Given the description of an element on the screen output the (x, y) to click on. 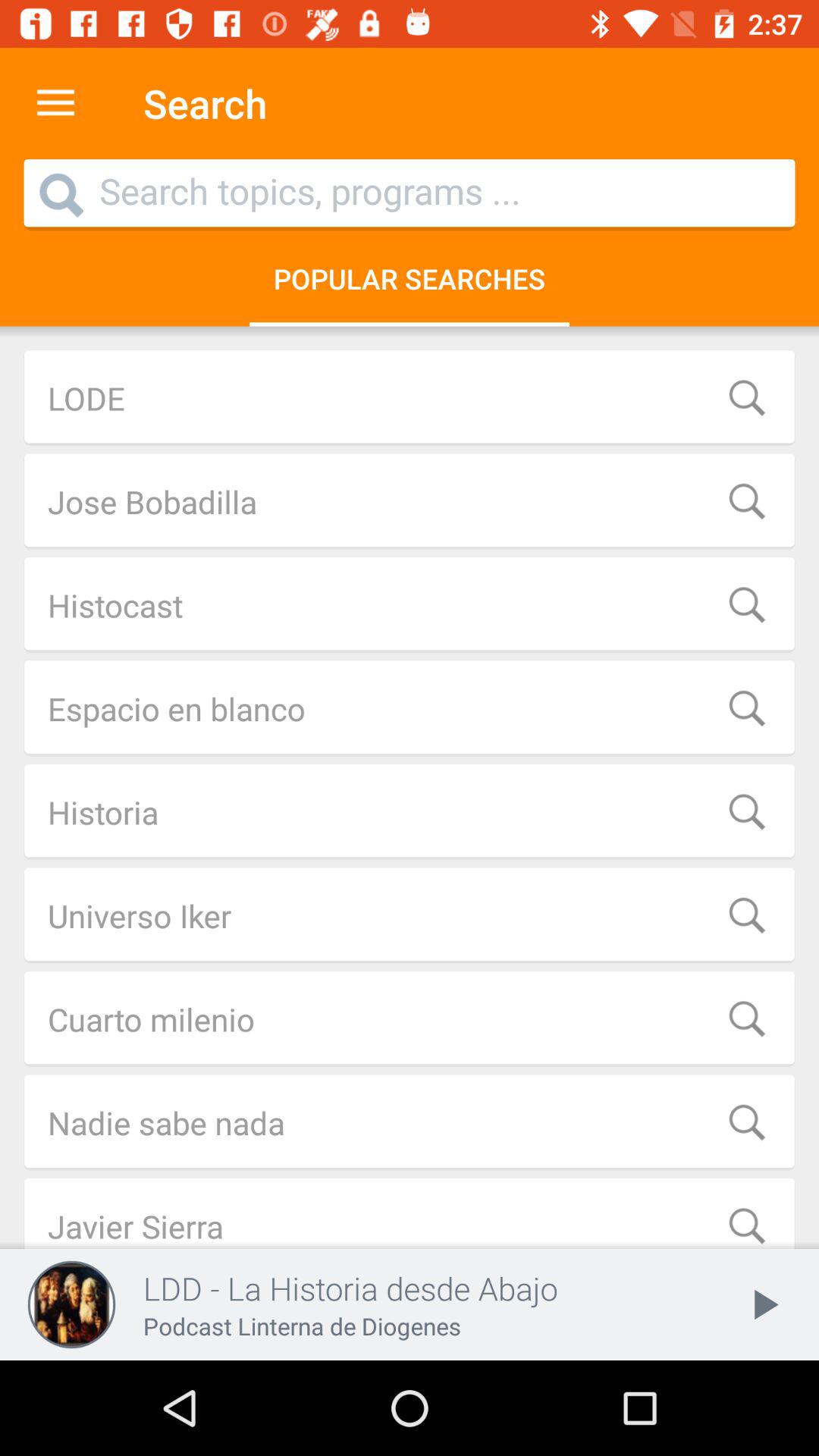
click the icon above historia icon (409, 708)
